Given the description of an element on the screen output the (x, y) to click on. 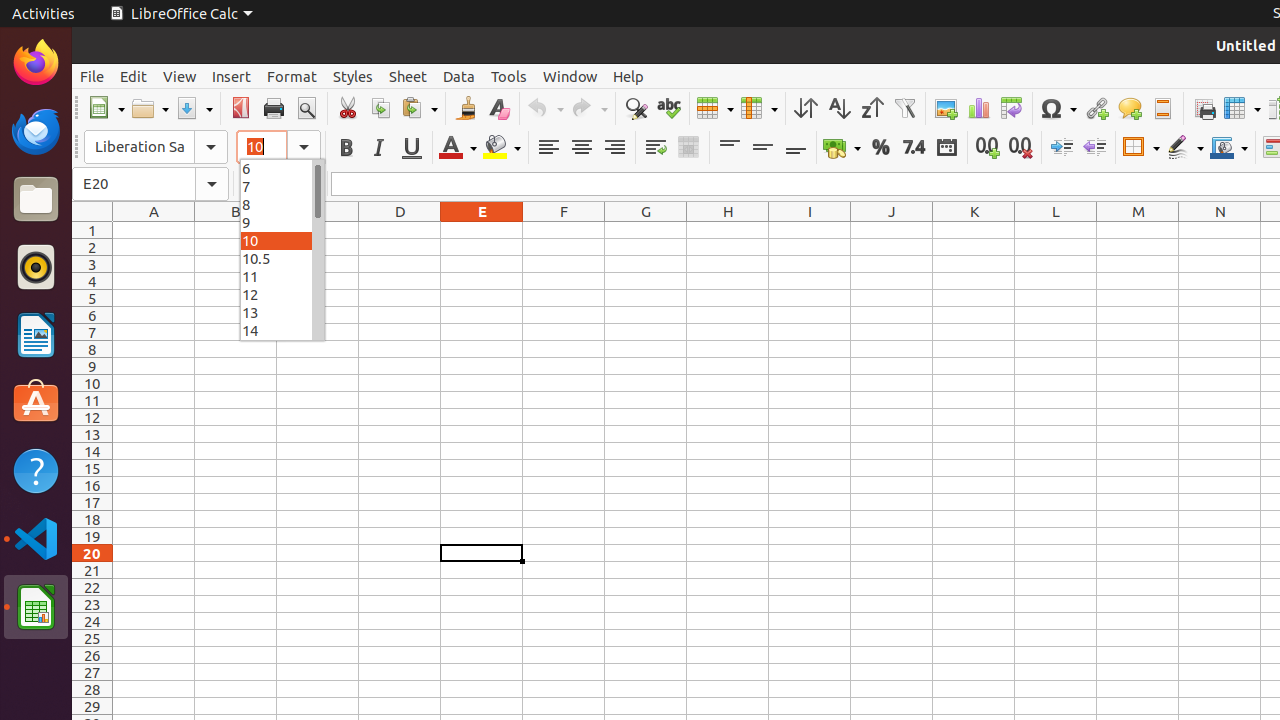
Bold Element type: toggle-button (345, 147)
Tools Element type: menu (509, 76)
Copy Element type: push-button (380, 108)
Increase Element type: push-button (1061, 147)
Image Element type: push-button (945, 108)
